Given the description of an element on the screen output the (x, y) to click on. 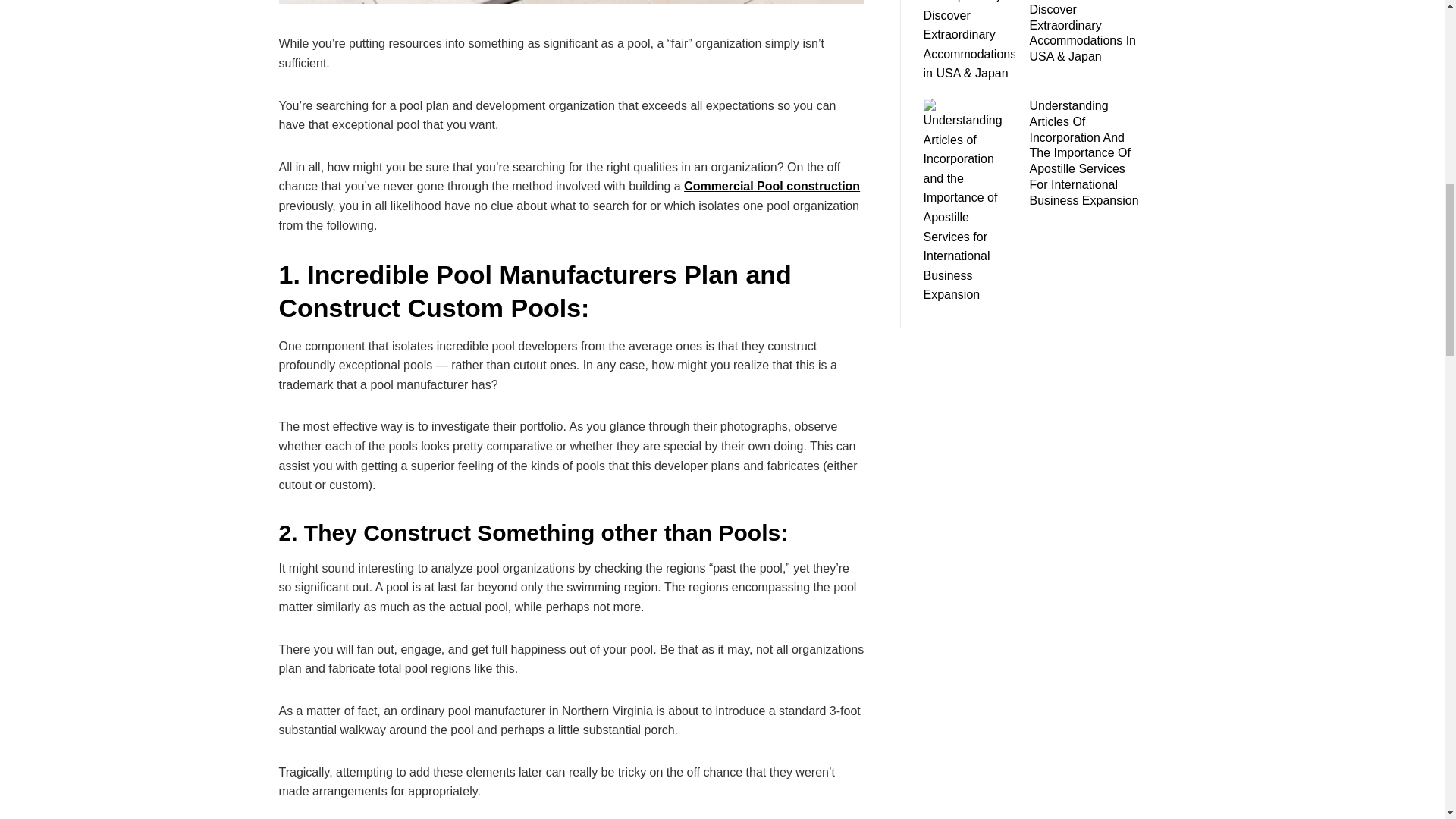
Commercial Pool construction (772, 185)
